Given the description of an element on the screen output the (x, y) to click on. 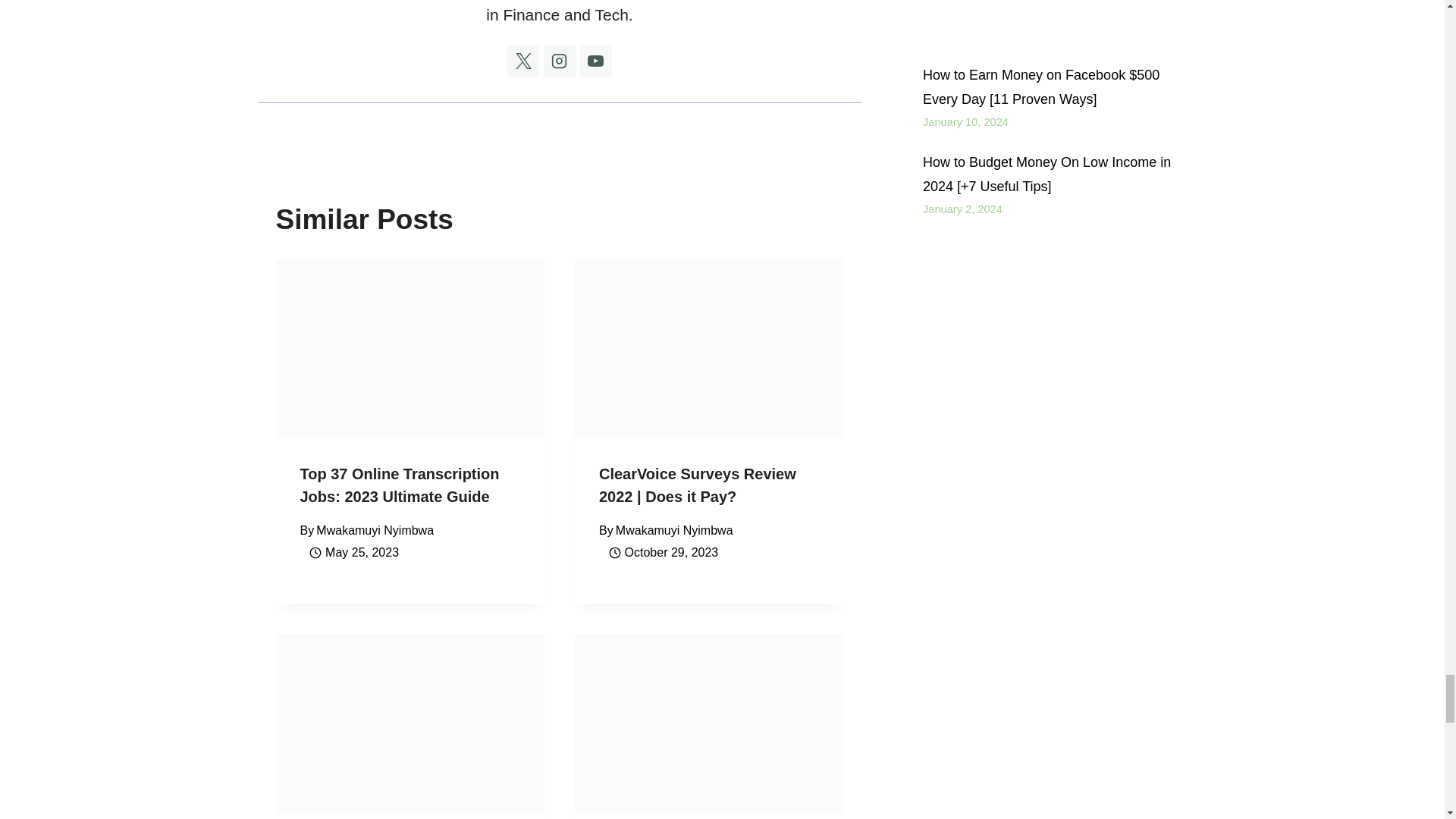
Follow Mwakamuyi Nyimbwa on Youtube (595, 60)
Follow Mwakamuyi Nyimbwa on X formerly Twitter (522, 60)
Follow Mwakamuyi Nyimbwa on Instagram (559, 60)
